Given the description of an element on the screen output the (x, y) to click on. 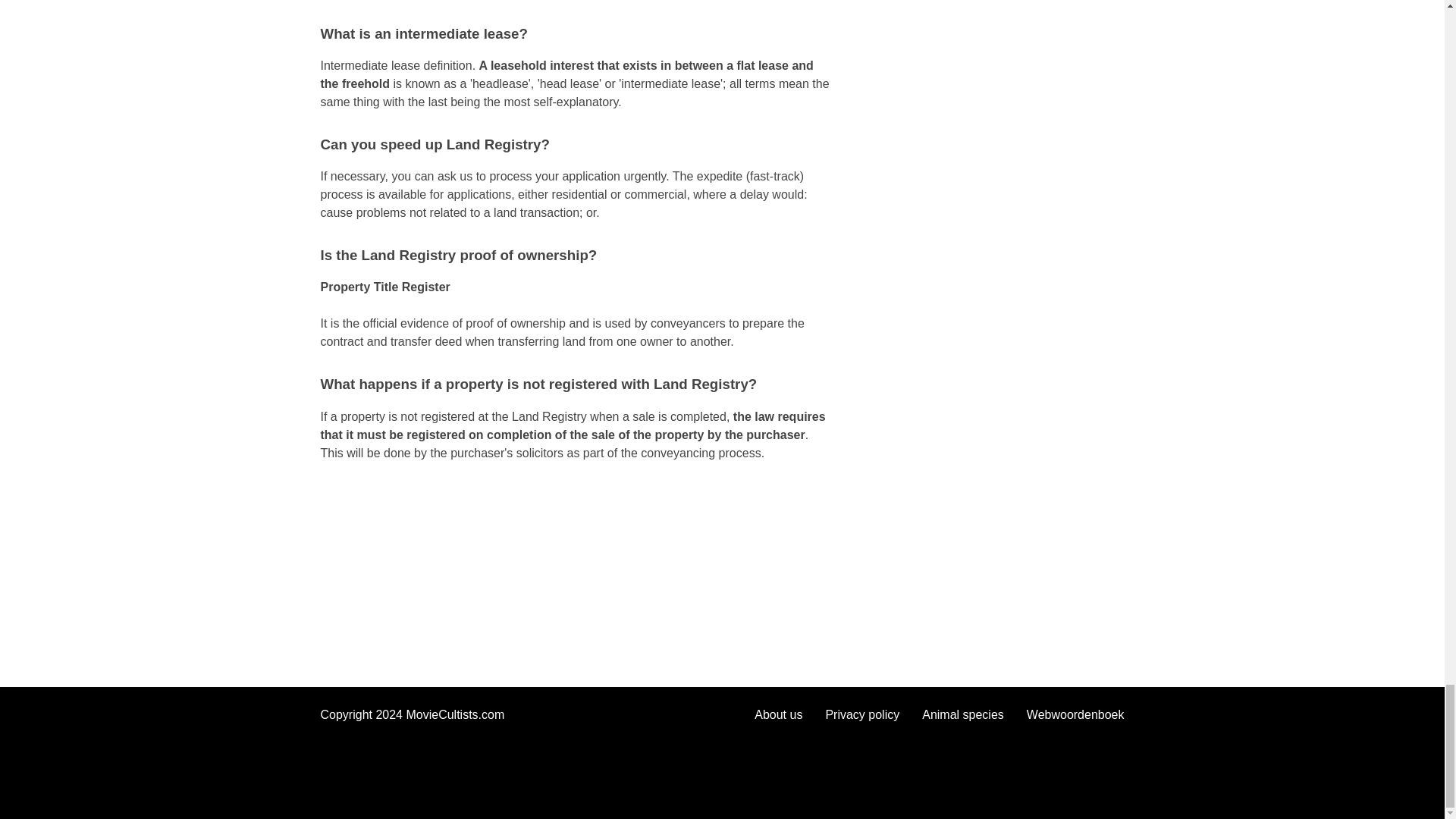
Animal species (962, 714)
About us (778, 714)
Privacy policy (862, 714)
Webwoordenboek (1075, 714)
